Given the description of an element on the screen output the (x, y) to click on. 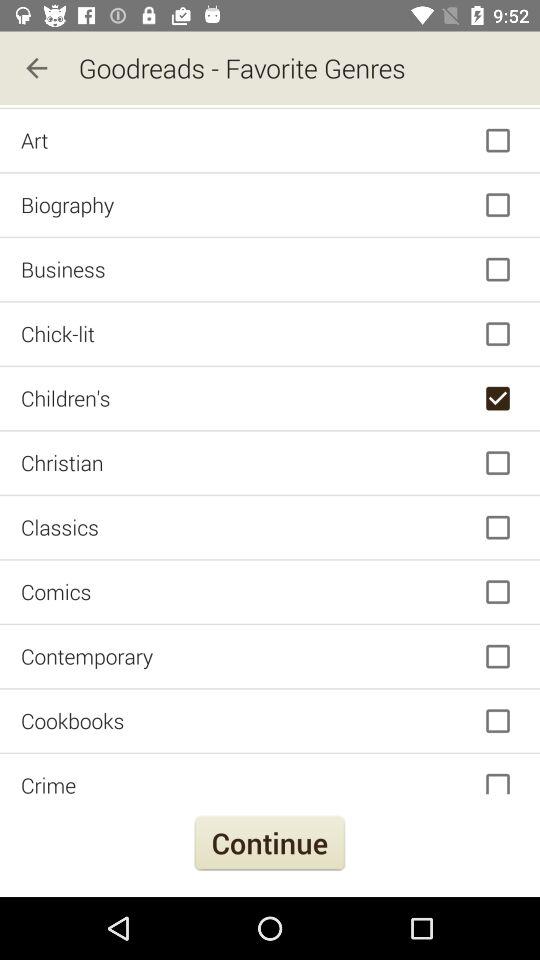
select the icon above the children's icon (270, 333)
